Given the description of an element on the screen output the (x, y) to click on. 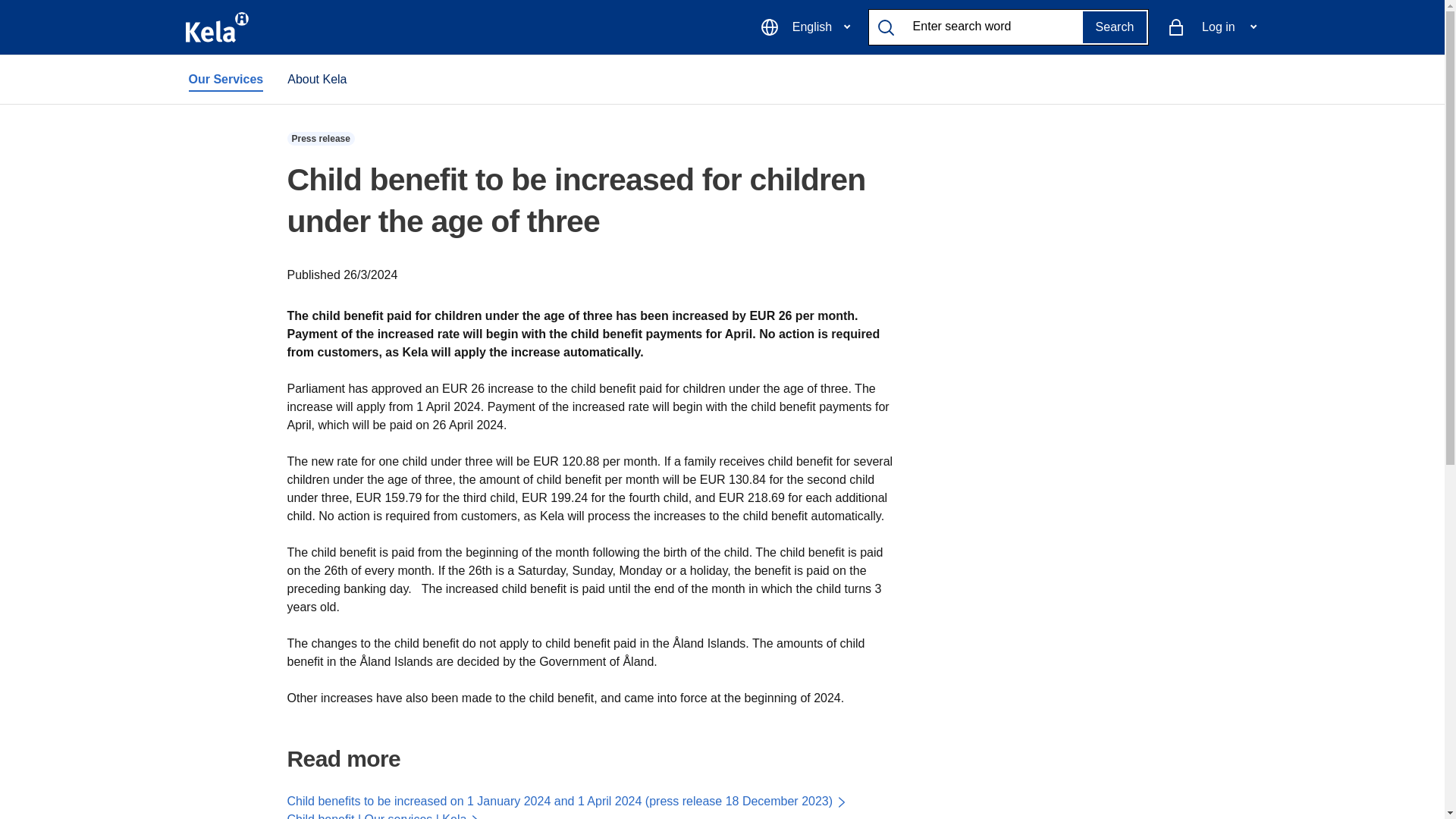
About Kela (316, 79)
Our Services (225, 79)
Log in (1211, 27)
Search (1115, 27)
English (805, 27)
